Given the description of an element on the screen output the (x, y) to click on. 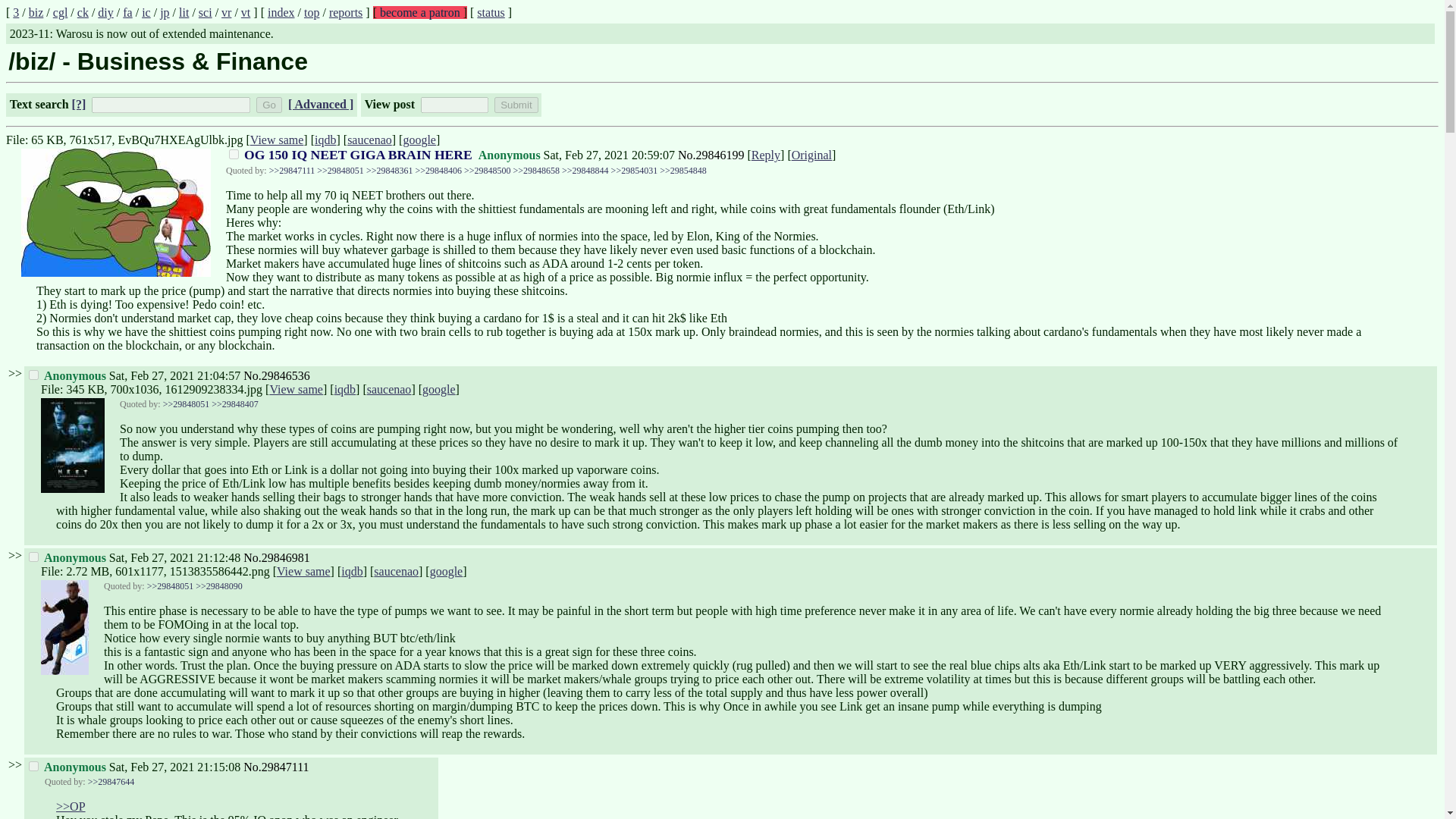
reports (345, 11)
status (490, 11)
cgl (60, 11)
Go (269, 105)
Submit (516, 105)
29846536,0 (34, 375)
iqdb (325, 139)
29846199,0 (233, 153)
index (281, 11)
29847111,0 (34, 766)
1614431568000 (174, 557)
View same (277, 139)
biz (36, 11)
1614430747000 (609, 154)
Reply (765, 154)
